Given the description of an element on the screen output the (x, y) to click on. 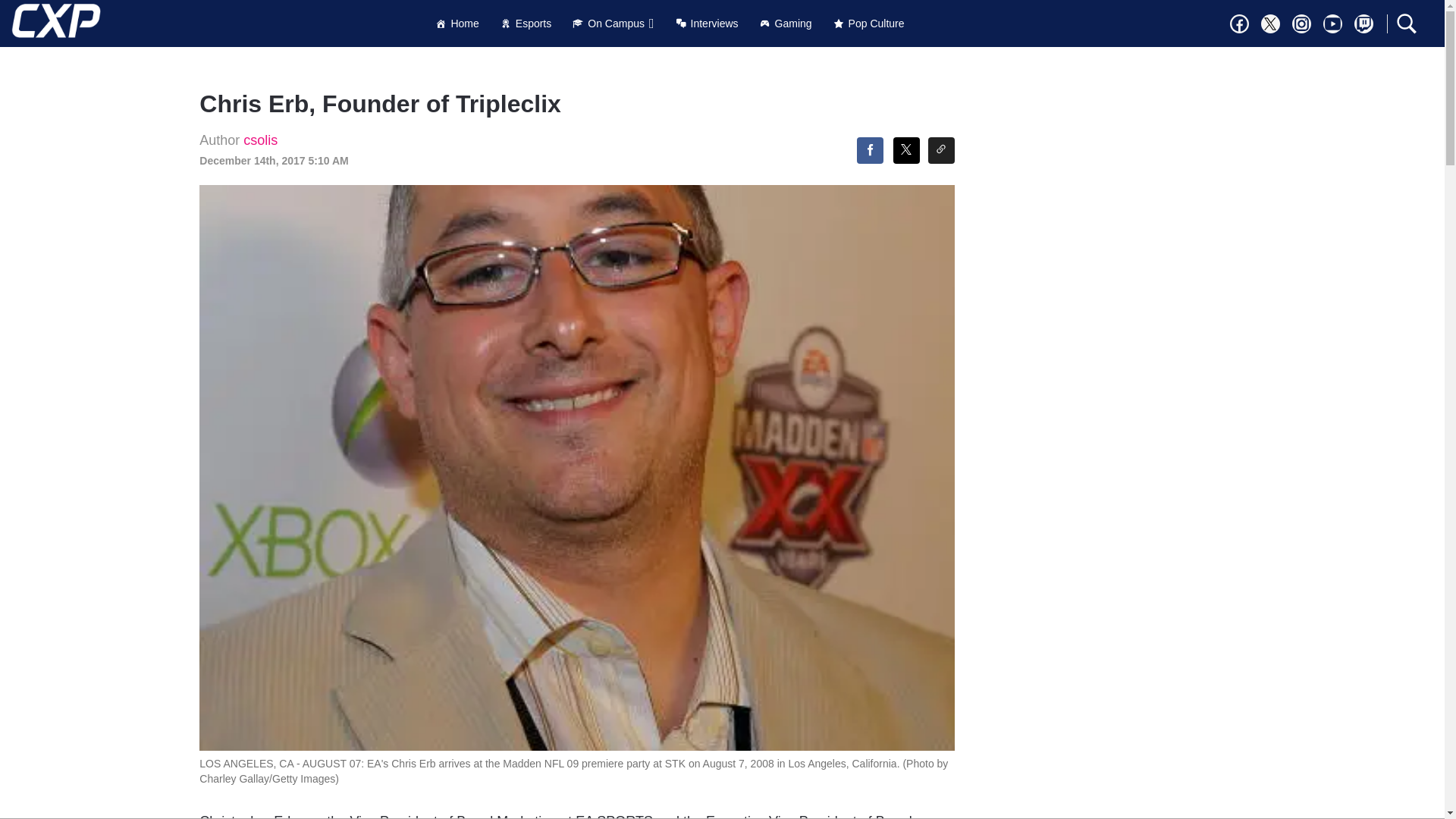
Pop Culture (868, 23)
Esports (525, 23)
csolis (260, 140)
Interviews (707, 23)
On Campus (612, 23)
Interviews (707, 23)
csolis (260, 140)
Gaming (785, 23)
Home (457, 23)
